Given the description of an element on the screen output the (x, y) to click on. 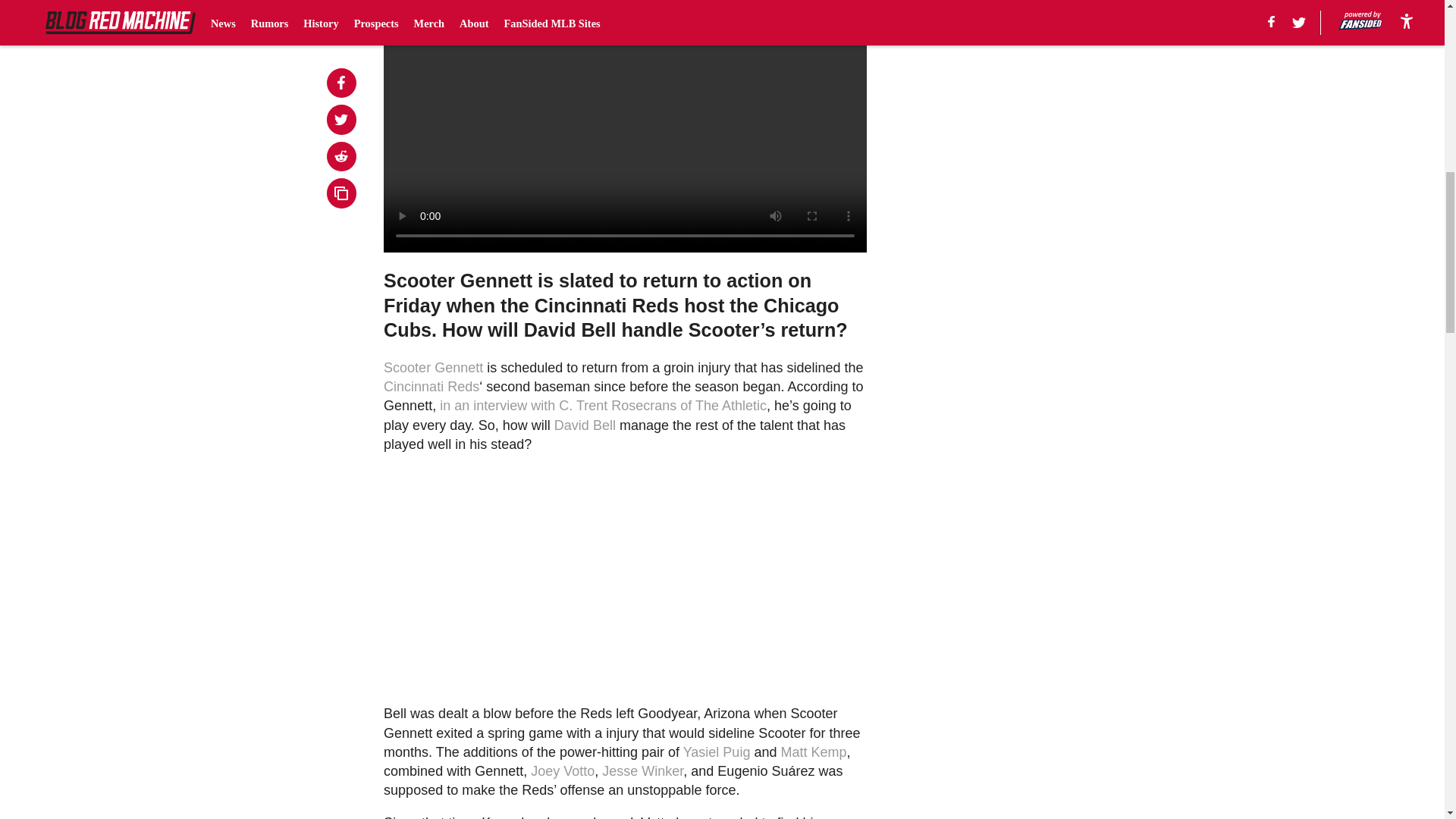
Joey Votto (562, 770)
Jesse Winker (642, 770)
Cincinnati Reds (431, 386)
Yasiel Puig (716, 752)
in an interview with C. Trent Rosecrans of The Athletic (603, 405)
Scooter Gennett (433, 367)
Matt Kemp (812, 752)
3rd party ad content (1005, 295)
David Bell (584, 425)
3rd party ad content (1005, 85)
